Given the description of an element on the screen output the (x, y) to click on. 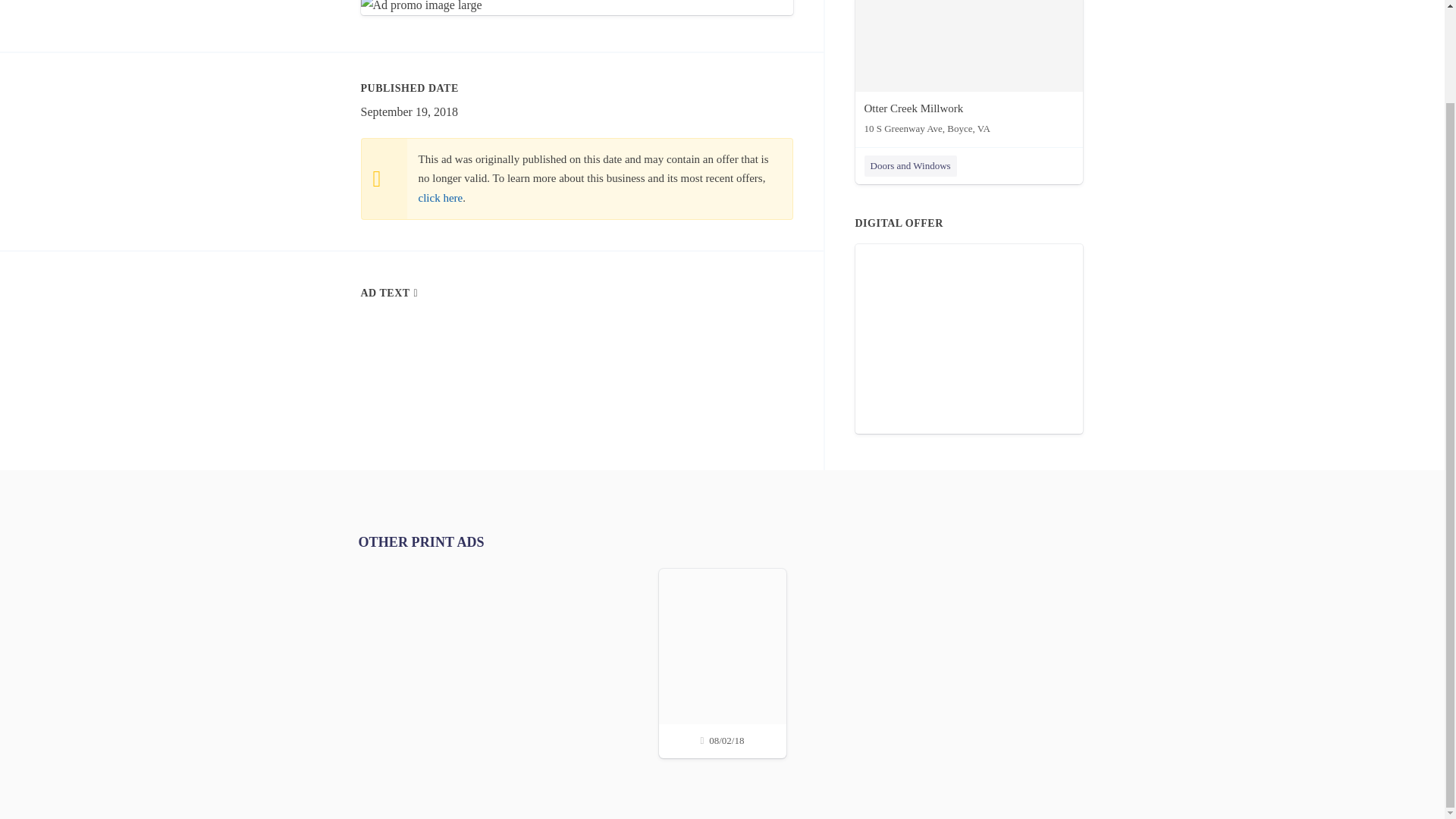
Doors and Windows (910, 165)
Origami widget number: 286235 (969, 339)
click here (441, 197)
Otter Creek Millwork (969, 71)
